Given the description of an element on the screen output the (x, y) to click on. 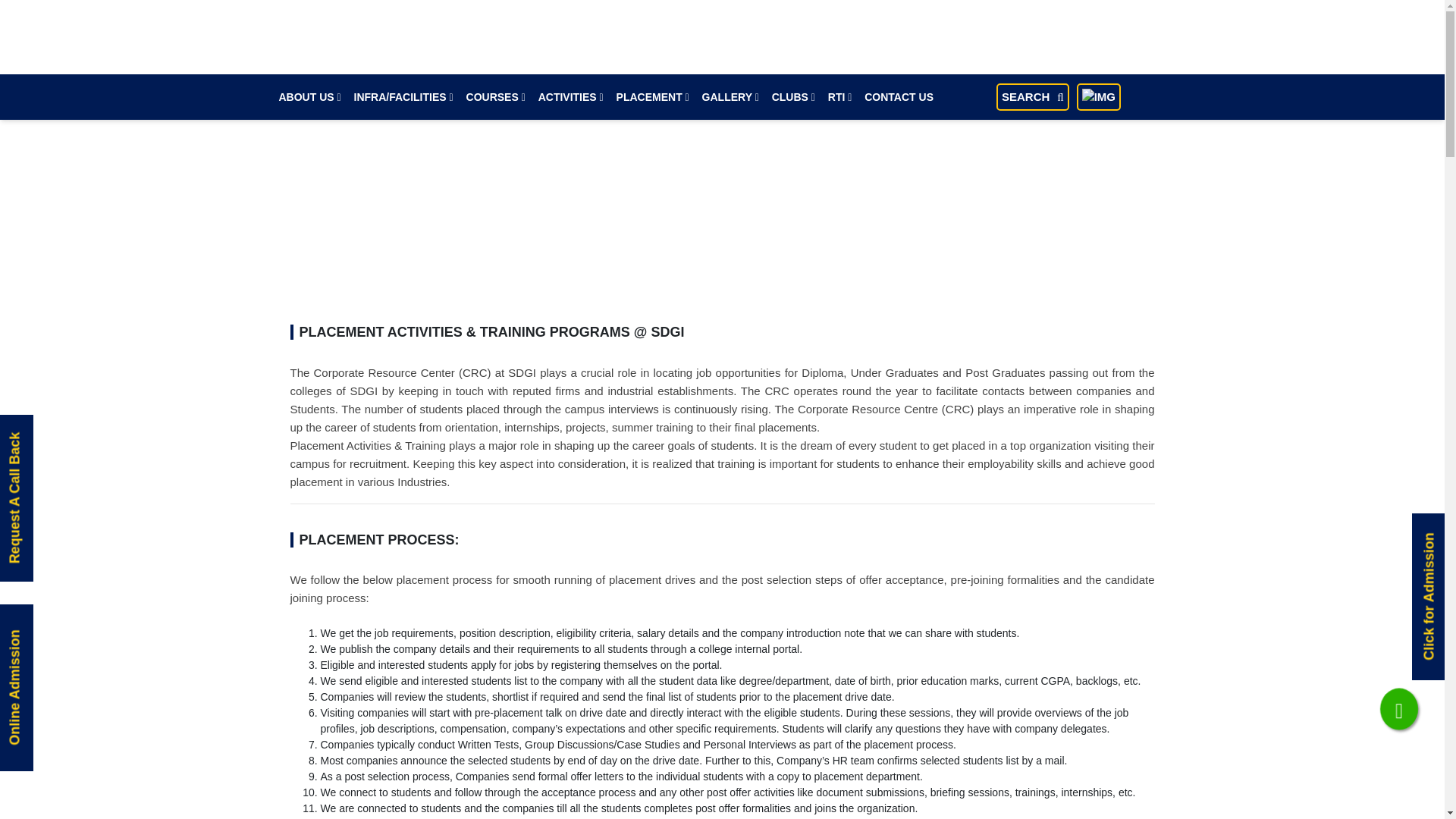
COURSES (495, 96)
ABOUT US (309, 96)
